Given the description of an element on the screen output the (x, y) to click on. 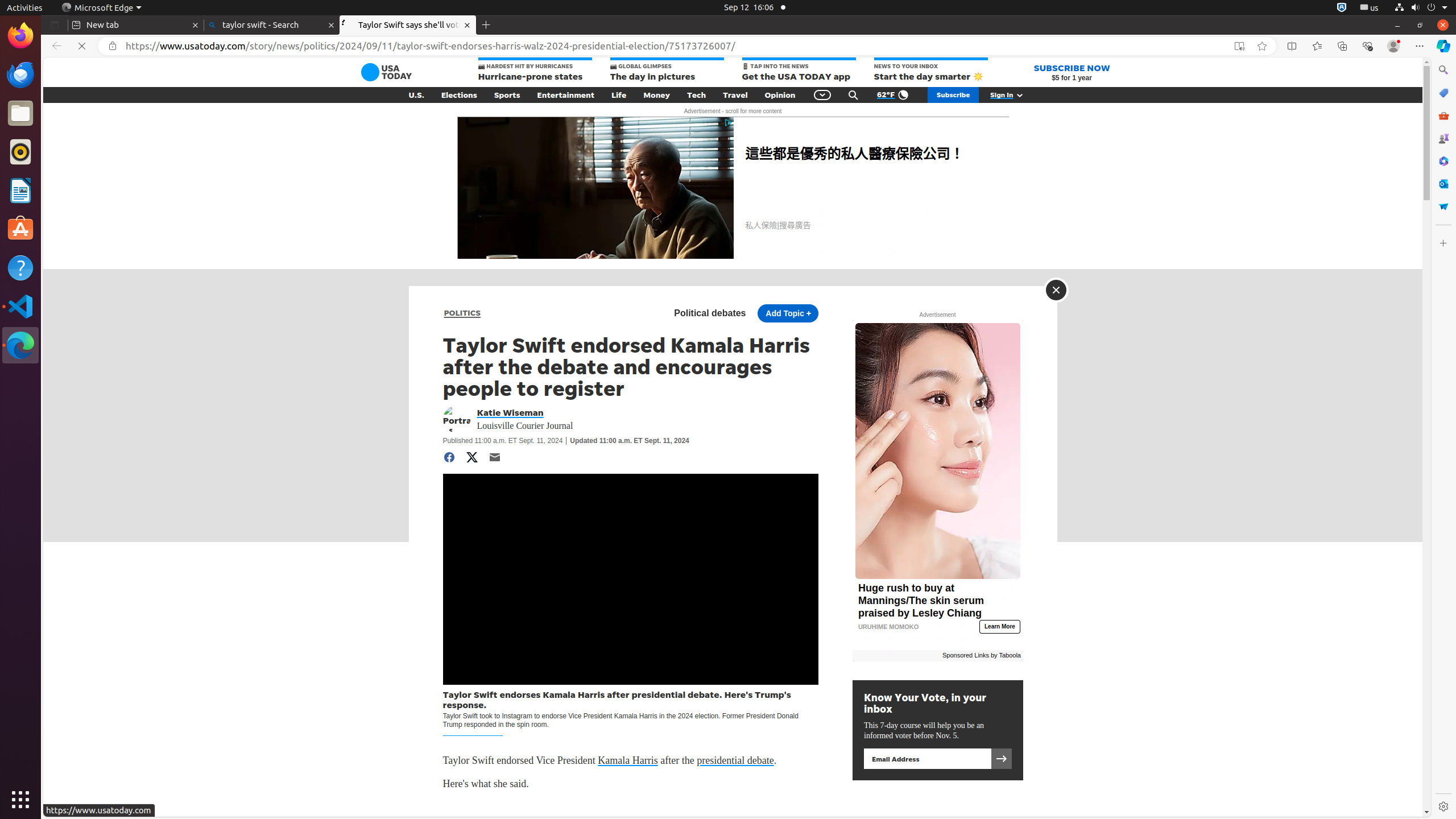
Travel Element type: link (734, 94)
Entertainment Element type: link (565, 94)
Tab actions menu Element type: push-button (54, 24)
📱 TAP INTO THE NEWS Get the USA TODAY app Element type: link (798, 70)
Tech Element type: link (696, 94)
